Given the description of an element on the screen output the (x, y) to click on. 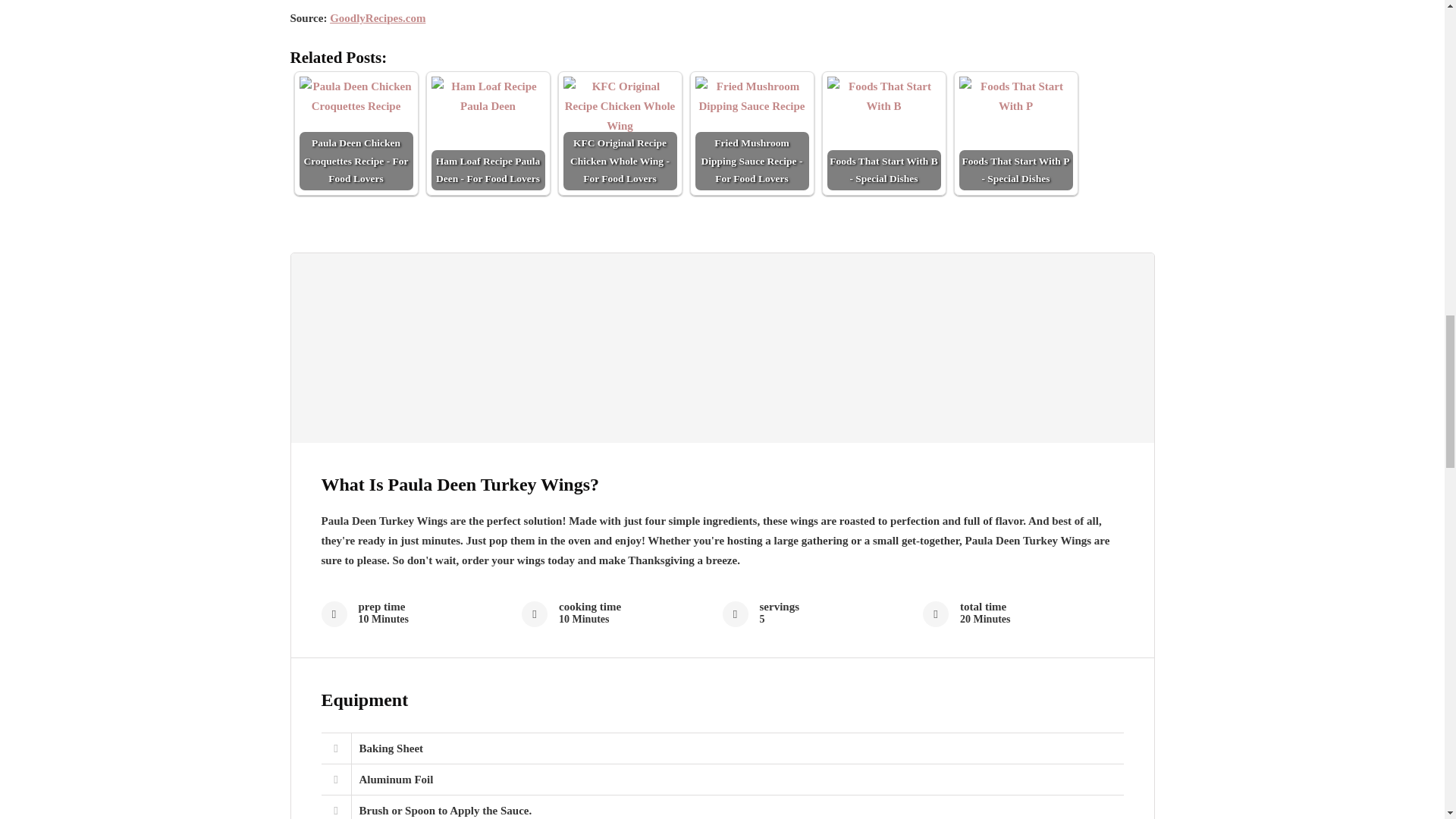
Foods That Start With B - Special Dishes (883, 133)
Ham Loaf Recipe Paula Deen - For Food Lovers (487, 96)
Foods That Start With P - Special Dishes (1014, 133)
Foods That Start With B - Special Dishes (883, 96)
KFC Original Recipe Chicken Whole Wing - For Food Lovers (619, 106)
GoodlyRecipes.com (377, 18)
Foods That Start With P - Special Dishes (1014, 96)
Paula Deen Chicken Croquettes Recipe - For Food Lovers (355, 96)
Ham Loaf Recipe Paula Deen - For Food Lovers (487, 133)
KFC Original Recipe Chicken Whole Wing - For Food Lovers (619, 133)
